Given the description of an element on the screen output the (x, y) to click on. 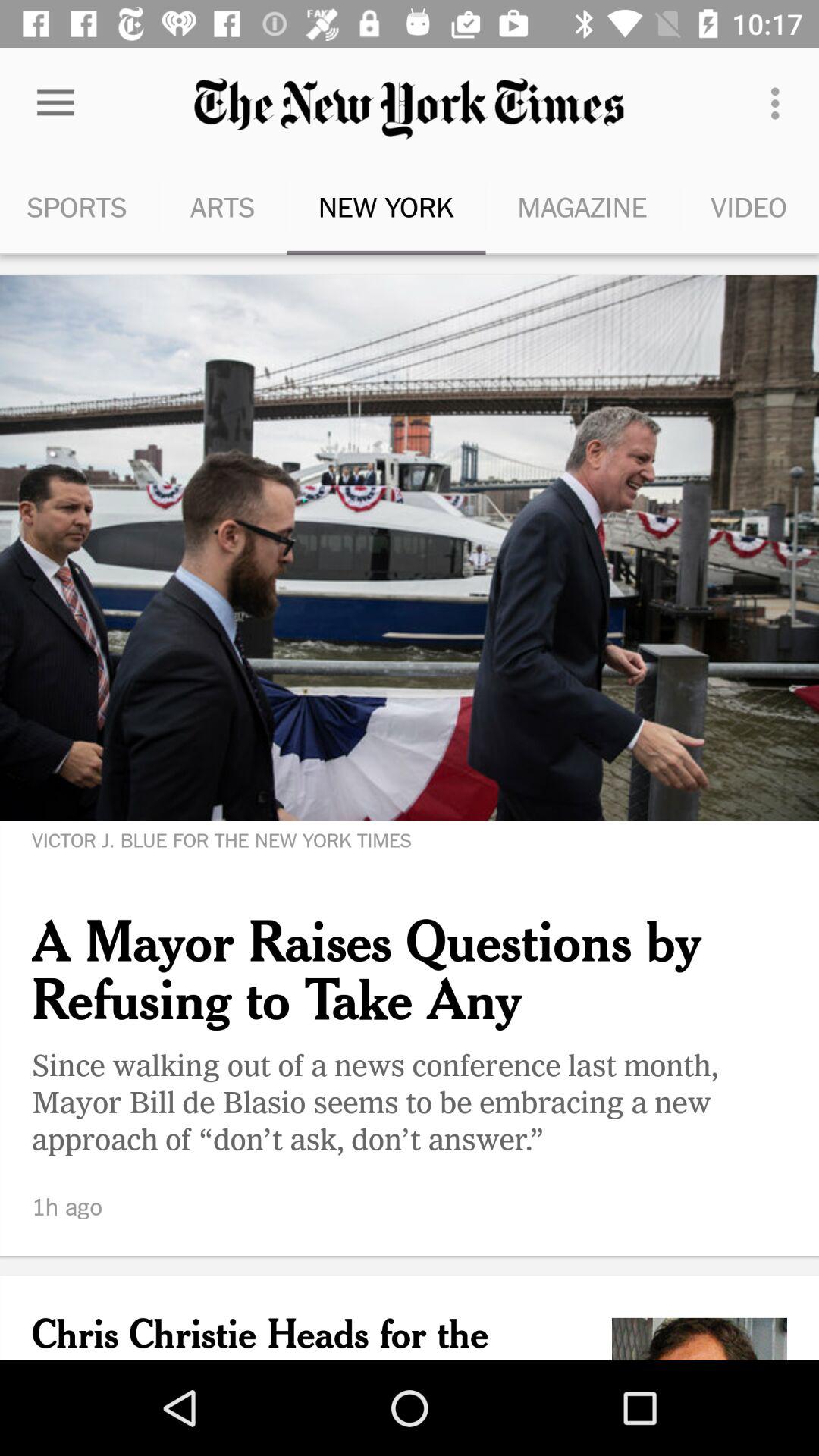
click icon next to the magazine icon (749, 206)
